Given the description of an element on the screen output the (x, y) to click on. 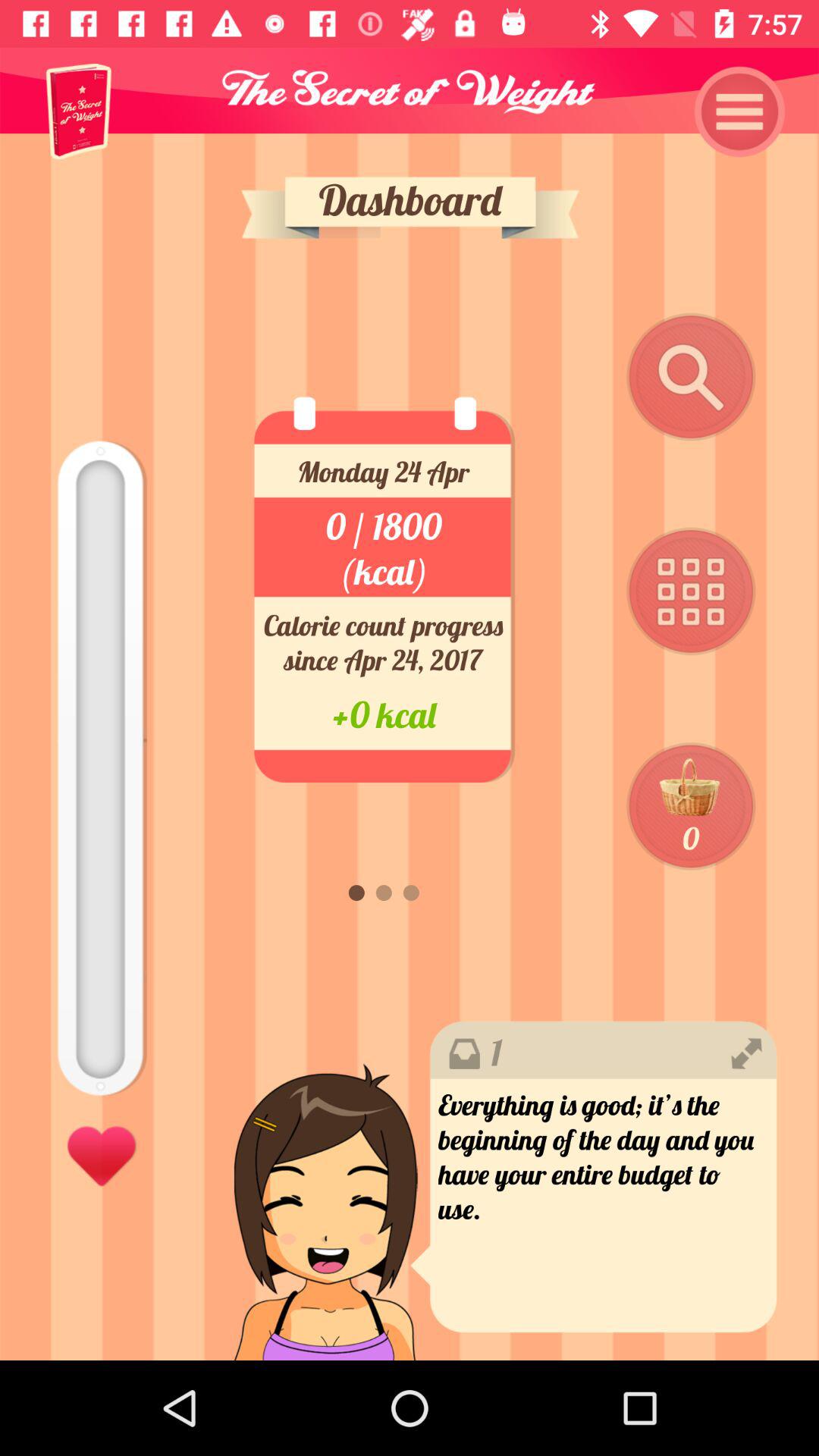
choose the item at the bottom left corner (101, 1152)
